Given the description of an element on the screen output the (x, y) to click on. 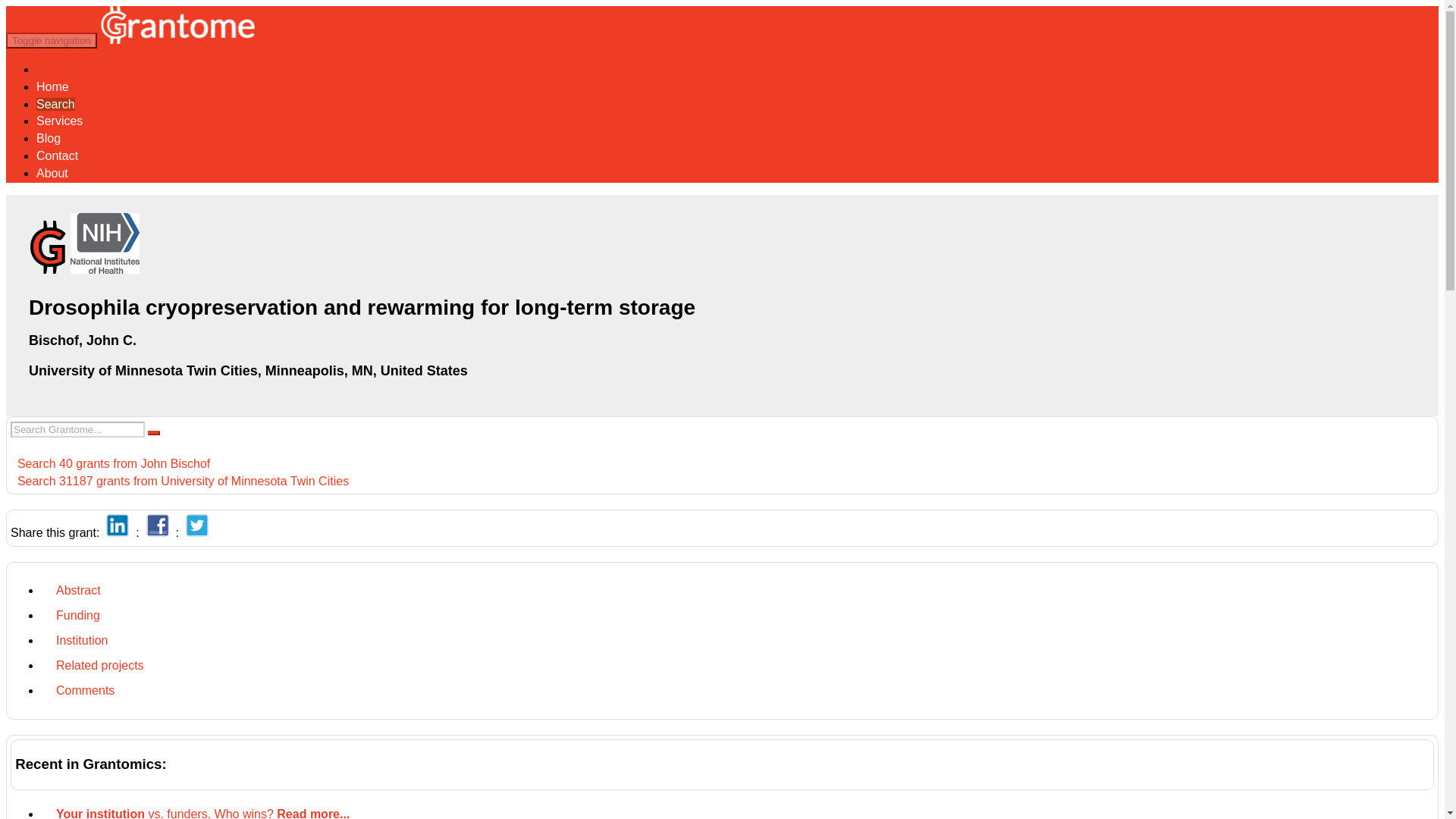
  Search 40 grants from John Bischof (109, 463)
Services (59, 120)
Share on Facebook... (157, 532)
Link to University of Minnesota Twin Cities website... (248, 370)
Share on LinkedIn... (117, 532)
Home (52, 86)
Toggle navigation (51, 40)
Link to Bischof's Pubmed publication list... (82, 340)
About (52, 173)
Blog (48, 137)
Contact (57, 155)
Bischof, John C. (82, 340)
Share on Twitter... (197, 532)
Search University of Minnesota Twin Cities in Grantome... (179, 481)
